Given the description of an element on the screen output the (x, y) to click on. 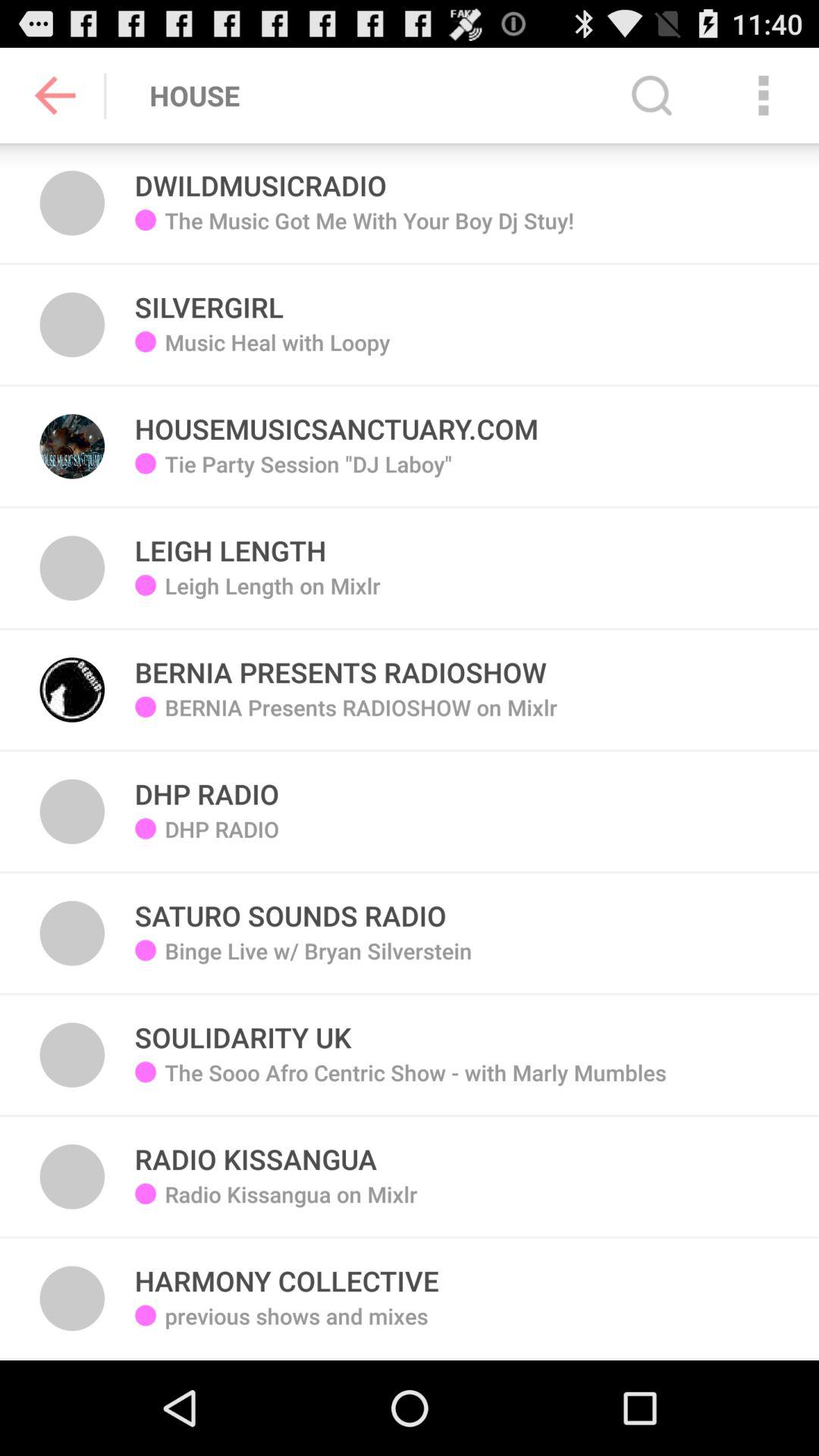
swipe until soulidarity uk (242, 1029)
